Given the description of an element on the screen output the (x, y) to click on. 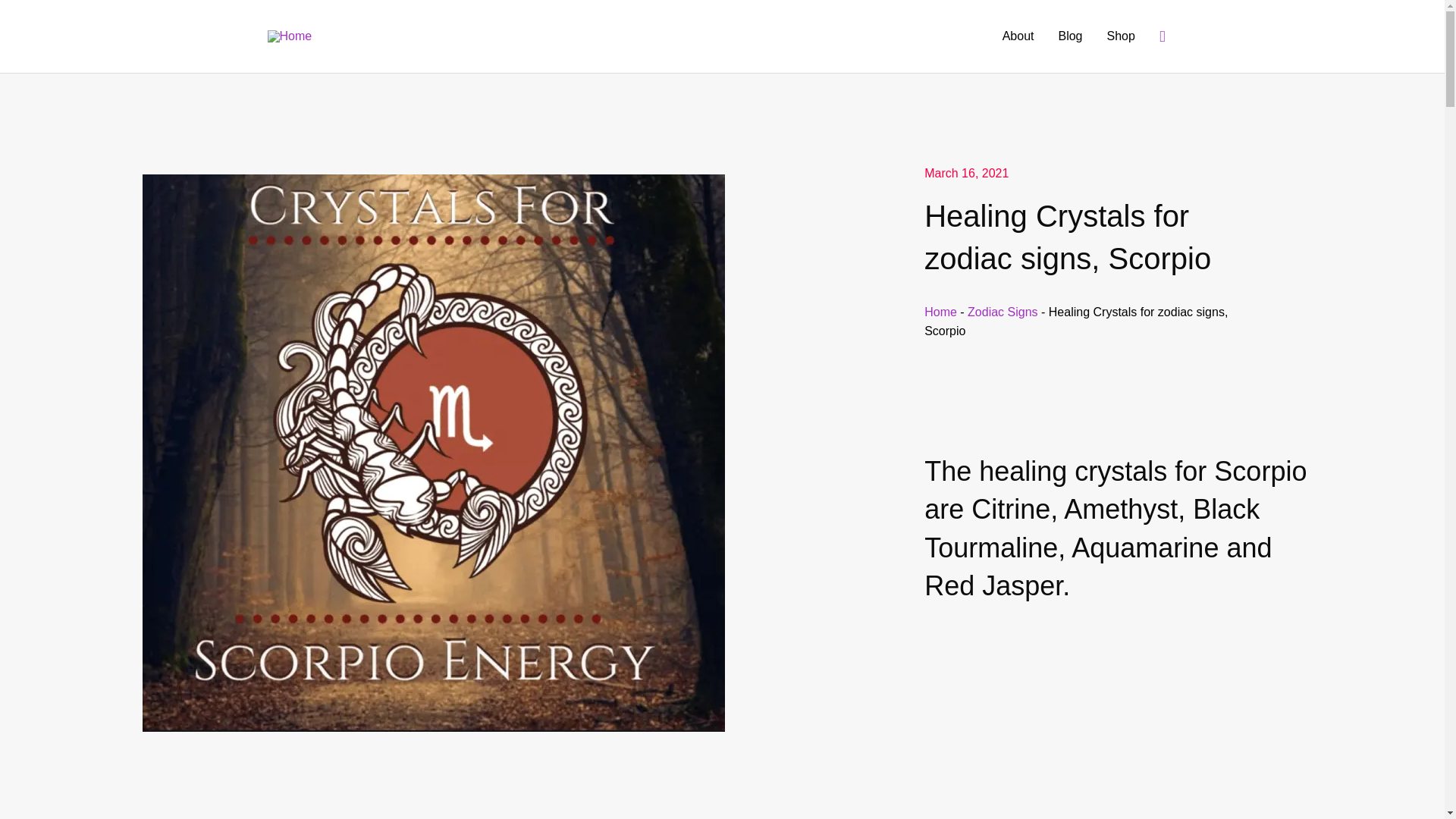
Shop (1120, 36)
Zodiac Signs (1003, 311)
About (1018, 36)
Home (940, 311)
Blog (1069, 36)
